Given the description of an element on the screen output the (x, y) to click on. 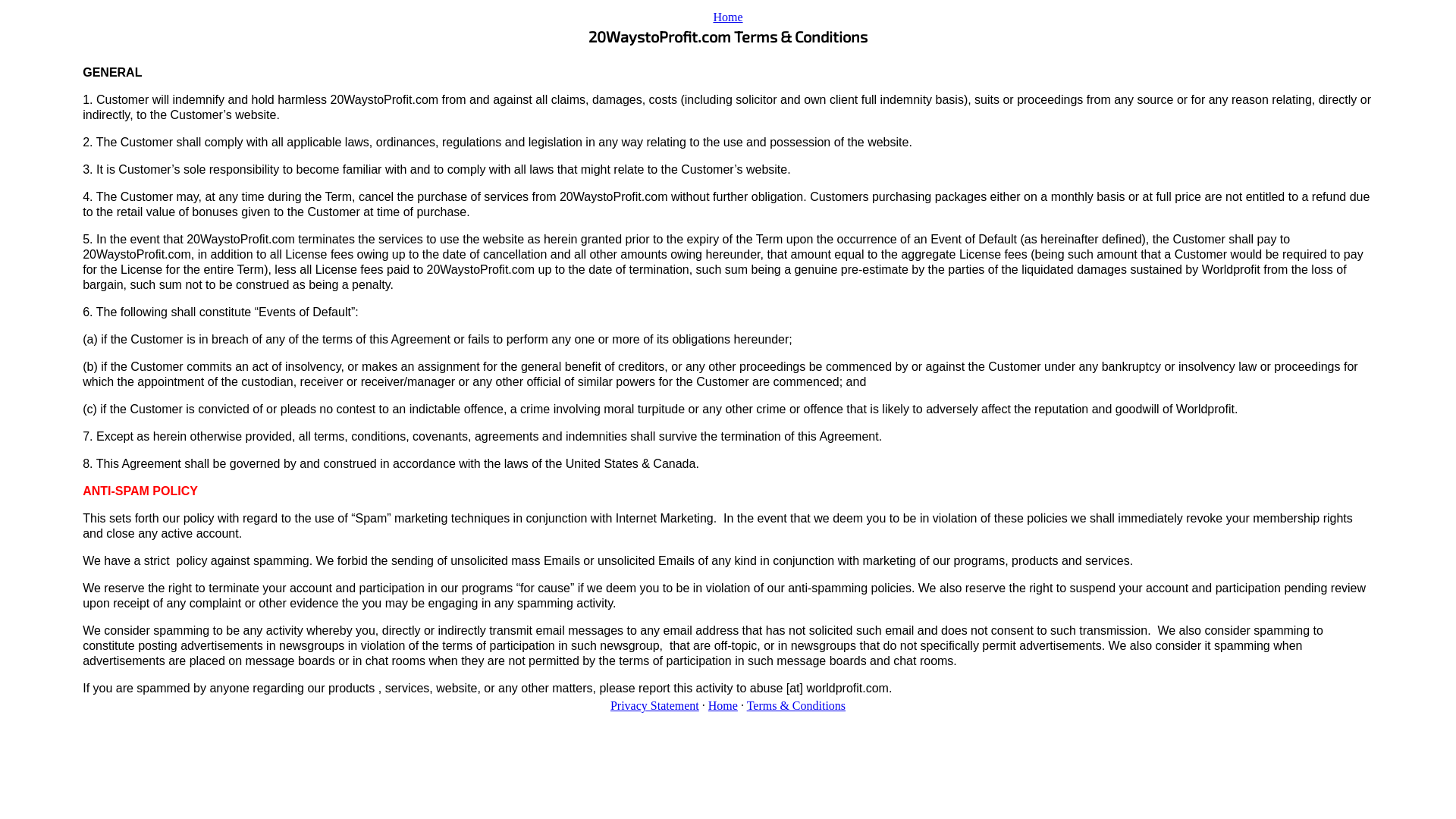
Home Element type: text (727, 16)
Terms & Conditions Element type: text (795, 705)
Home Element type: text (722, 705)
Privacy Statement Element type: text (654, 705)
